Given the description of an element on the screen output the (x, y) to click on. 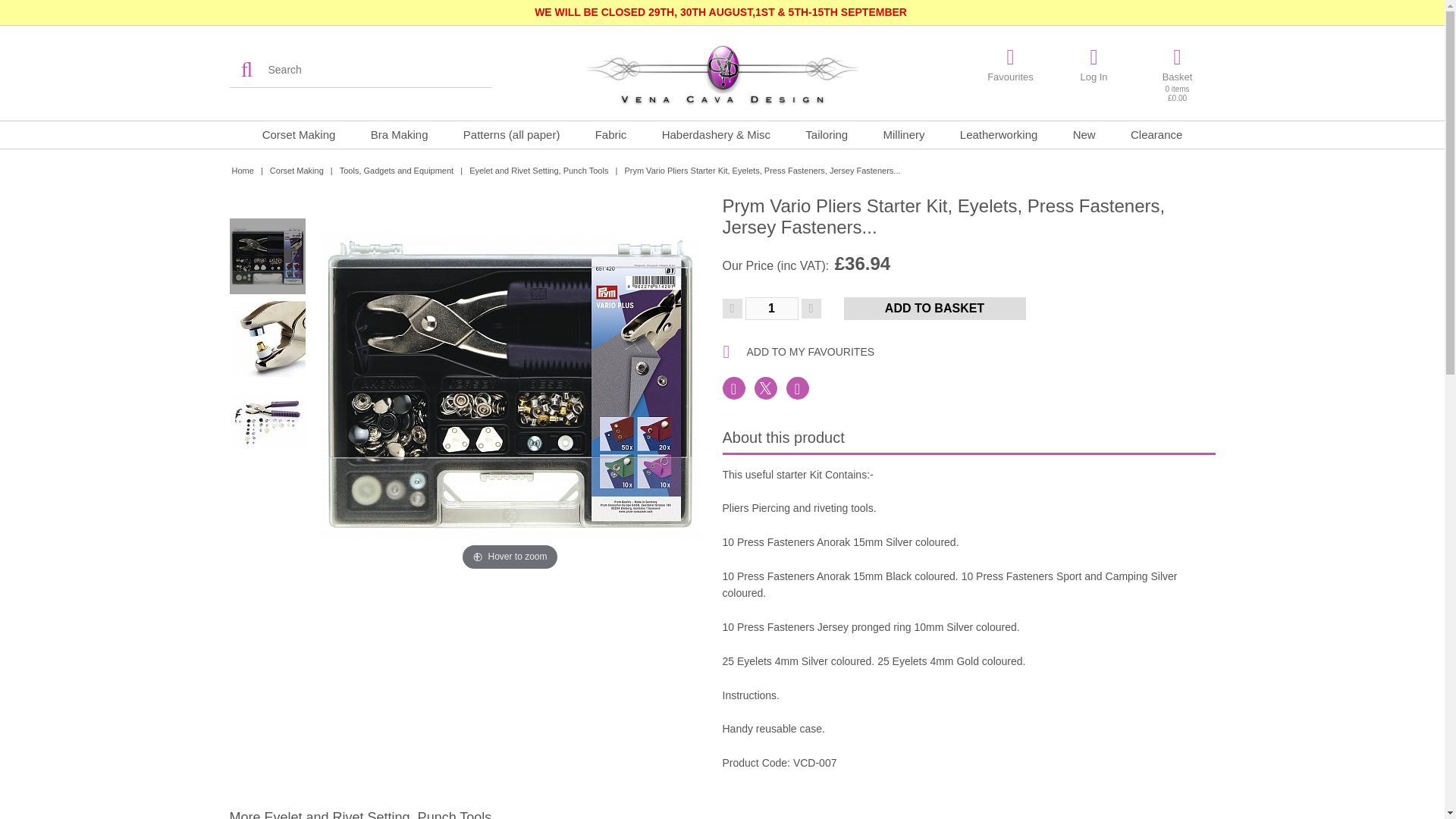
Account (1093, 64)
Favourites (1010, 64)
Basket (1176, 75)
Share on Facebook (733, 387)
1 (770, 308)
Log In (1093, 64)
Share on X (765, 387)
Share on Pinterest (797, 387)
Favourites (1010, 64)
Add to my Favourites (968, 350)
